Given the description of an element on the screen output the (x, y) to click on. 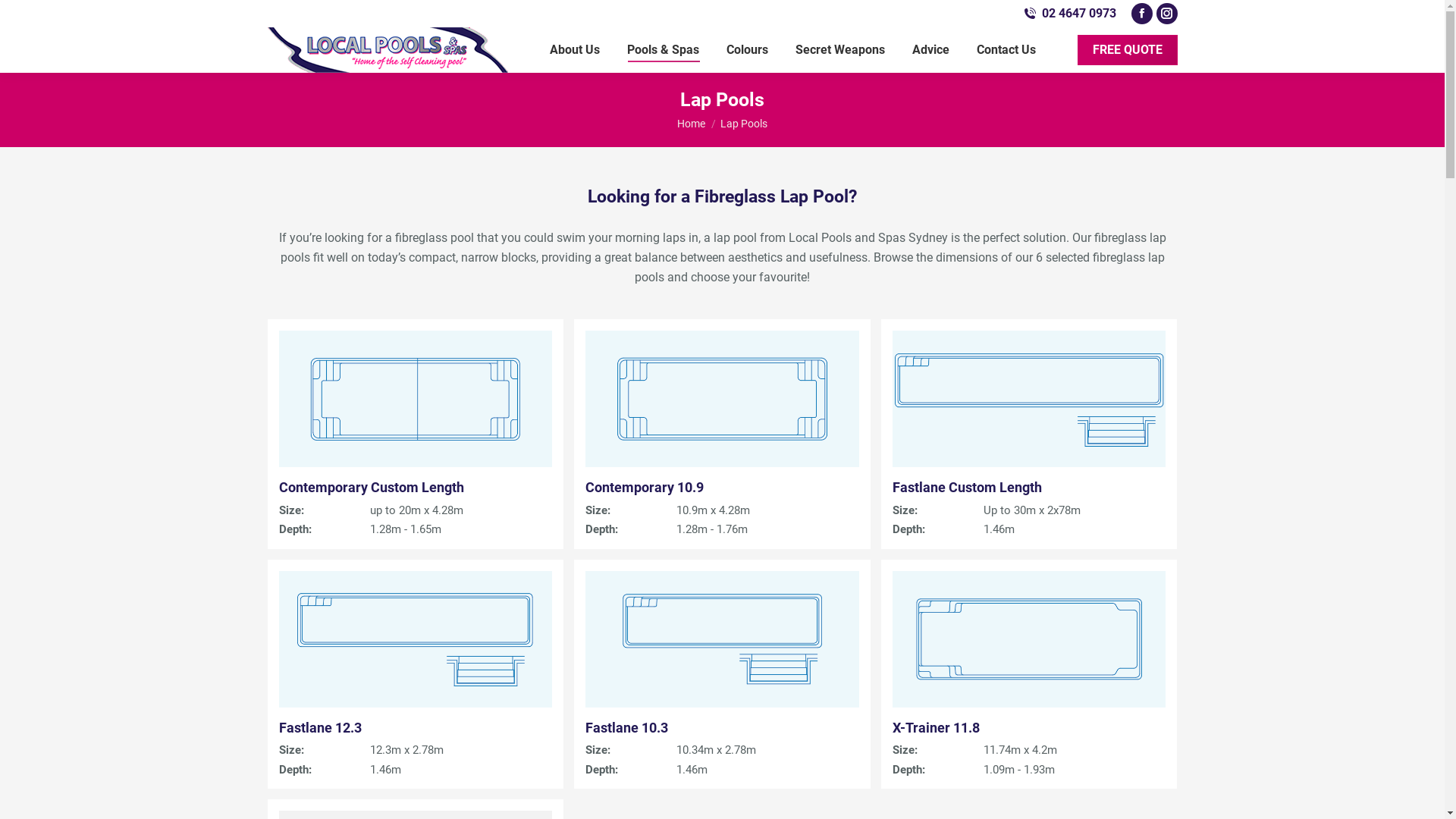
Facebook page opens in new window Element type: text (1141, 13)
02 4647 0973 Element type: text (1069, 13)
Colours Element type: text (747, 49)
Fastlane Custom Length Element type: text (966, 487)
About Us Element type: text (574, 49)
Secret Weapons Element type: text (839, 49)
FREE QUOTE Element type: text (1126, 49)
Contemporary Custom Length Element type: text (371, 487)
Pools & Spas Element type: text (662, 49)
Home Element type: text (691, 123)
Contemporary 10.9 Element type: text (644, 487)
Advice Element type: text (929, 49)
X-Trainer 11.8 Element type: text (935, 727)
Fastlane 10.3 Element type: text (626, 727)
Fastlane 12.3 Element type: text (320, 727)
Instagram page opens in new window Element type: text (1166, 13)
Contact Us Element type: text (1005, 49)
